Given the description of an element on the screen output the (x, y) to click on. 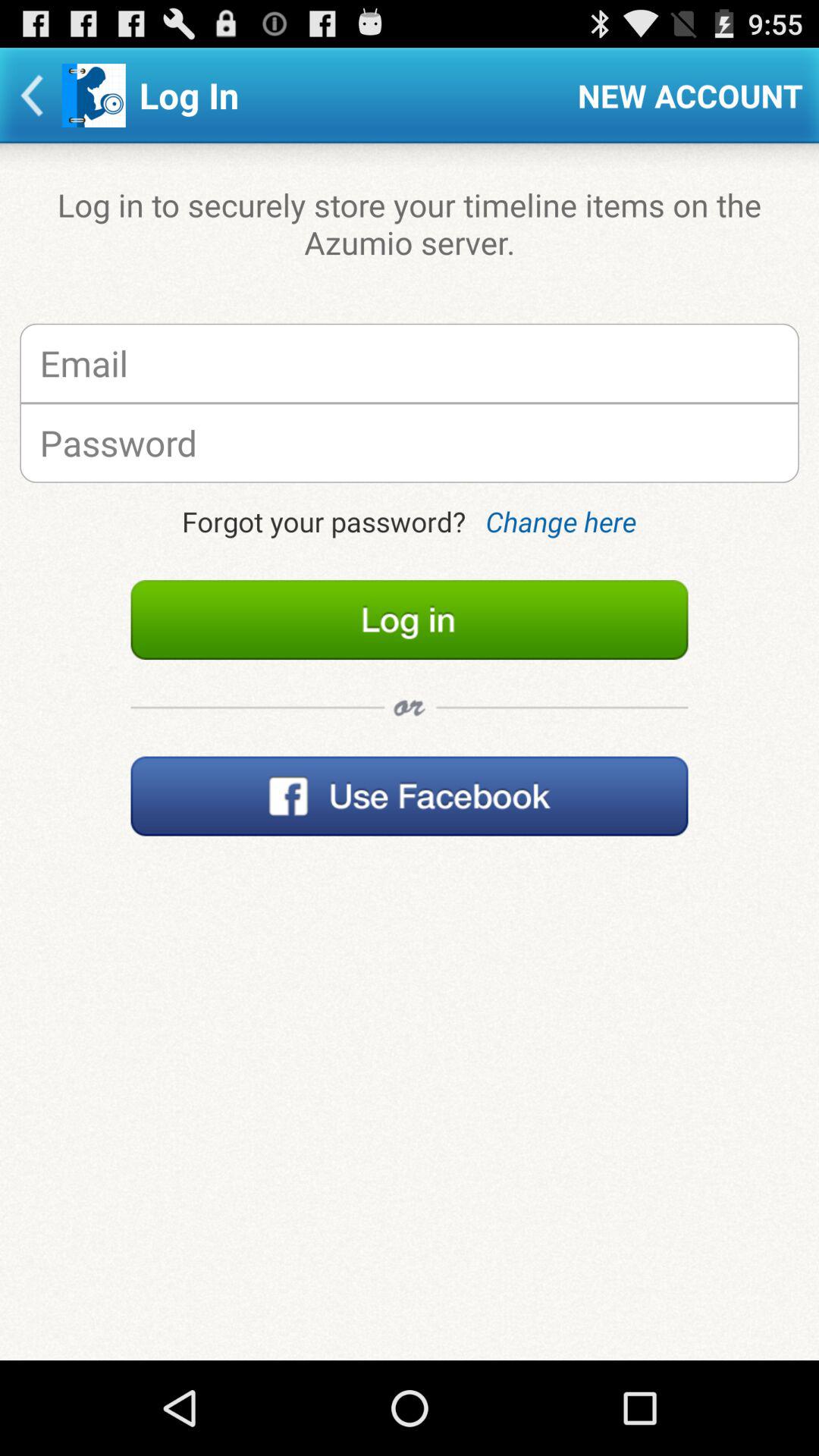
log in to account (409, 619)
